Given the description of an element on the screen output the (x, y) to click on. 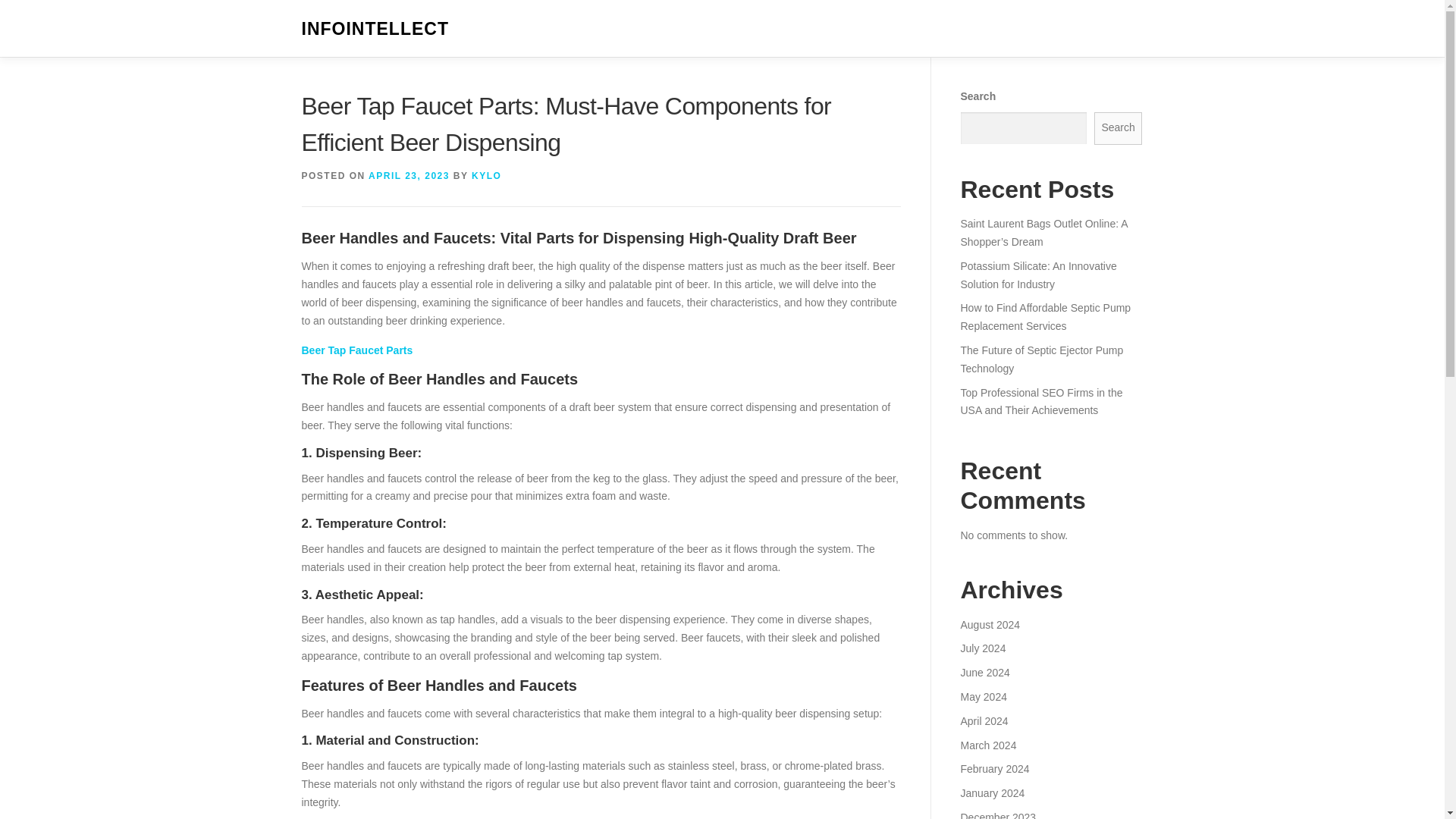
August 2024 (989, 624)
March 2024 (987, 744)
Search (1118, 128)
July 2024 (982, 648)
December 2023 (997, 815)
How to Find Affordable Septic Pump Replacement Services (1045, 317)
Beer Tap Faucet Parts (357, 349)
May 2024 (982, 696)
The Future of Septic Ejector Pump Technology (1040, 358)
INFOINTELLECT (374, 29)
